Given the description of an element on the screen output the (x, y) to click on. 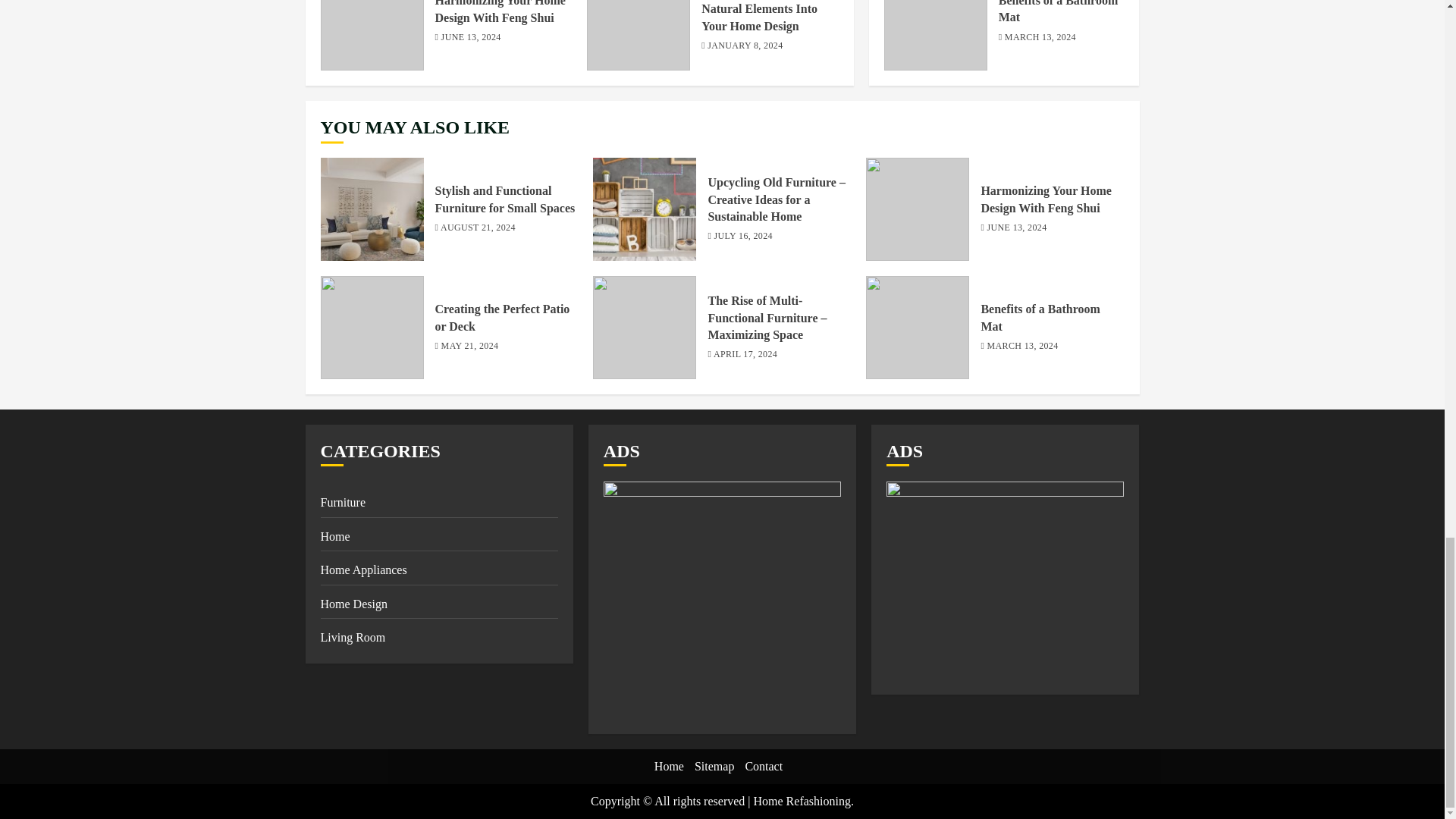
Harmonizing Your Home Design With Feng Shui (500, 12)
Stylish and Functional Furniture for Small Spaces (505, 199)
Ads (722, 600)
Harmonizing Your Home Design With Feng Shui (371, 35)
Harmonizing Your Home Design With Feng Shui (917, 209)
Stylish and Functional Furniture for Small Spaces (371, 209)
How to Incorporate Natural Elements Into Your Home Design (638, 35)
How to Incorporate Natural Elements Into Your Home Design (758, 16)
Ads (1005, 580)
